Given the description of an element on the screen output the (x, y) to click on. 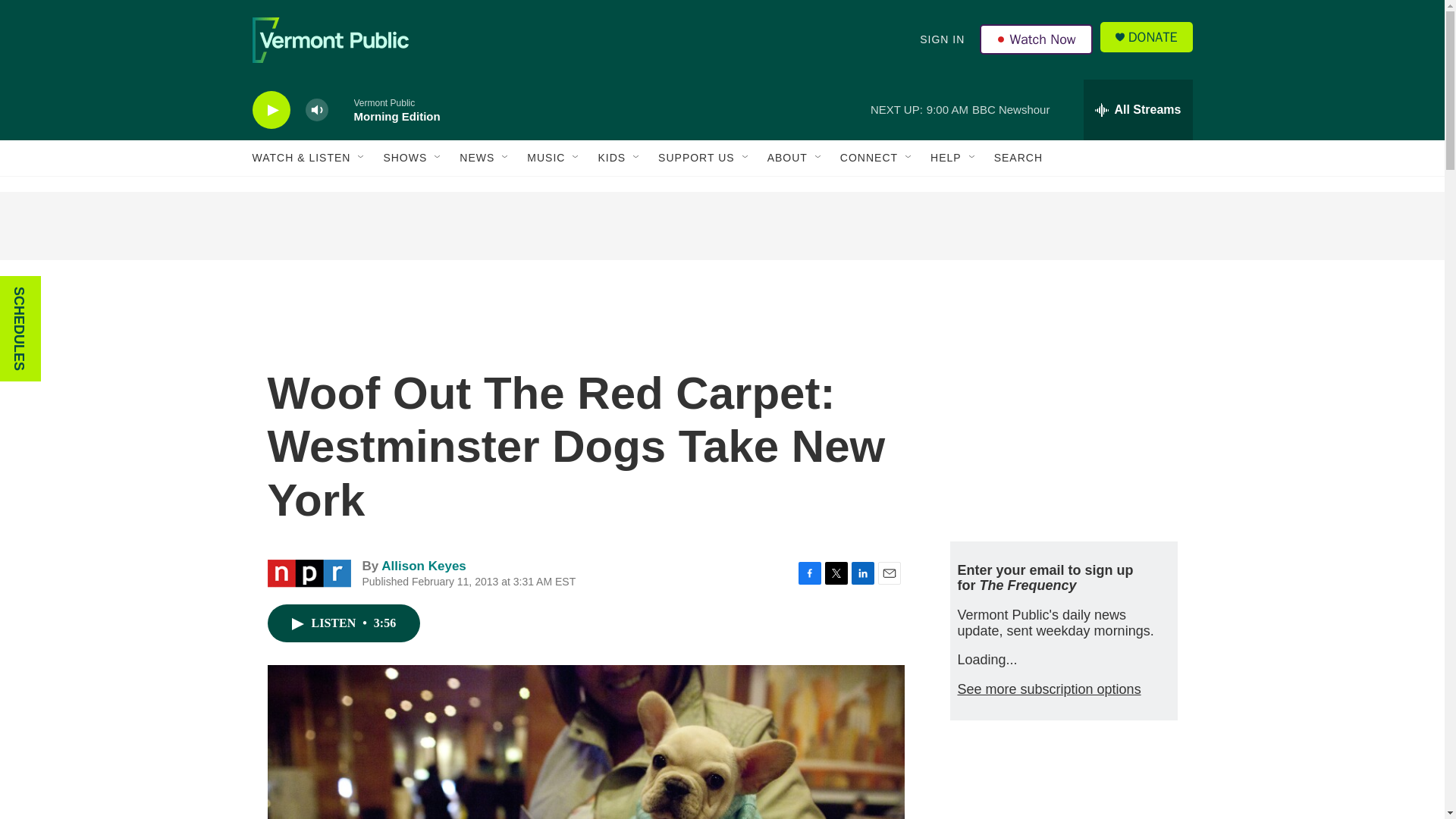
3rd party ad content (1062, 785)
3rd party ad content (721, 225)
3rd party ad content (1062, 416)
